Given the description of an element on the screen output the (x, y) to click on. 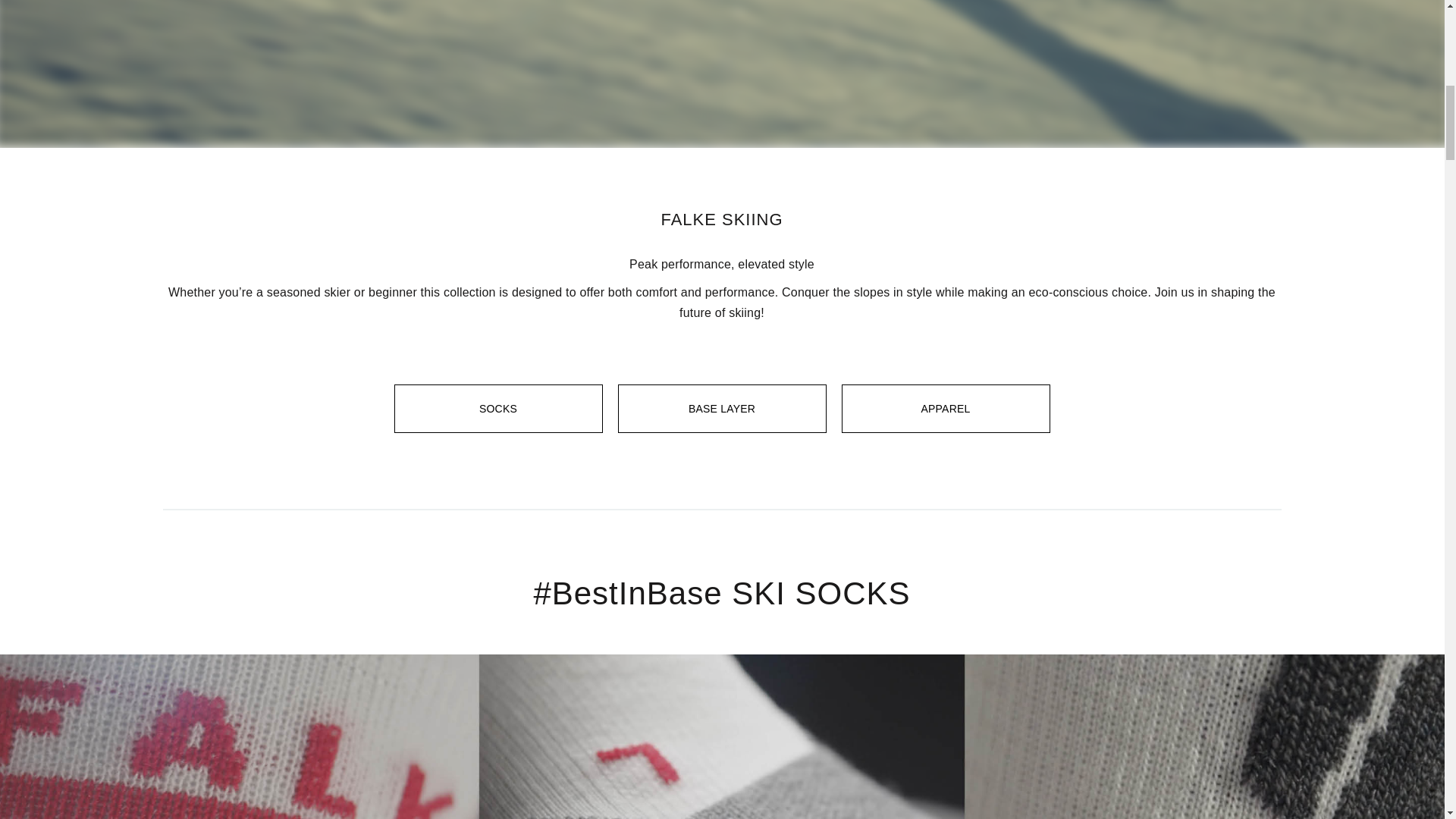
APPAREL (945, 408)
BASE LAYER (721, 408)
SOCKS (498, 408)
